Given the description of an element on the screen output the (x, y) to click on. 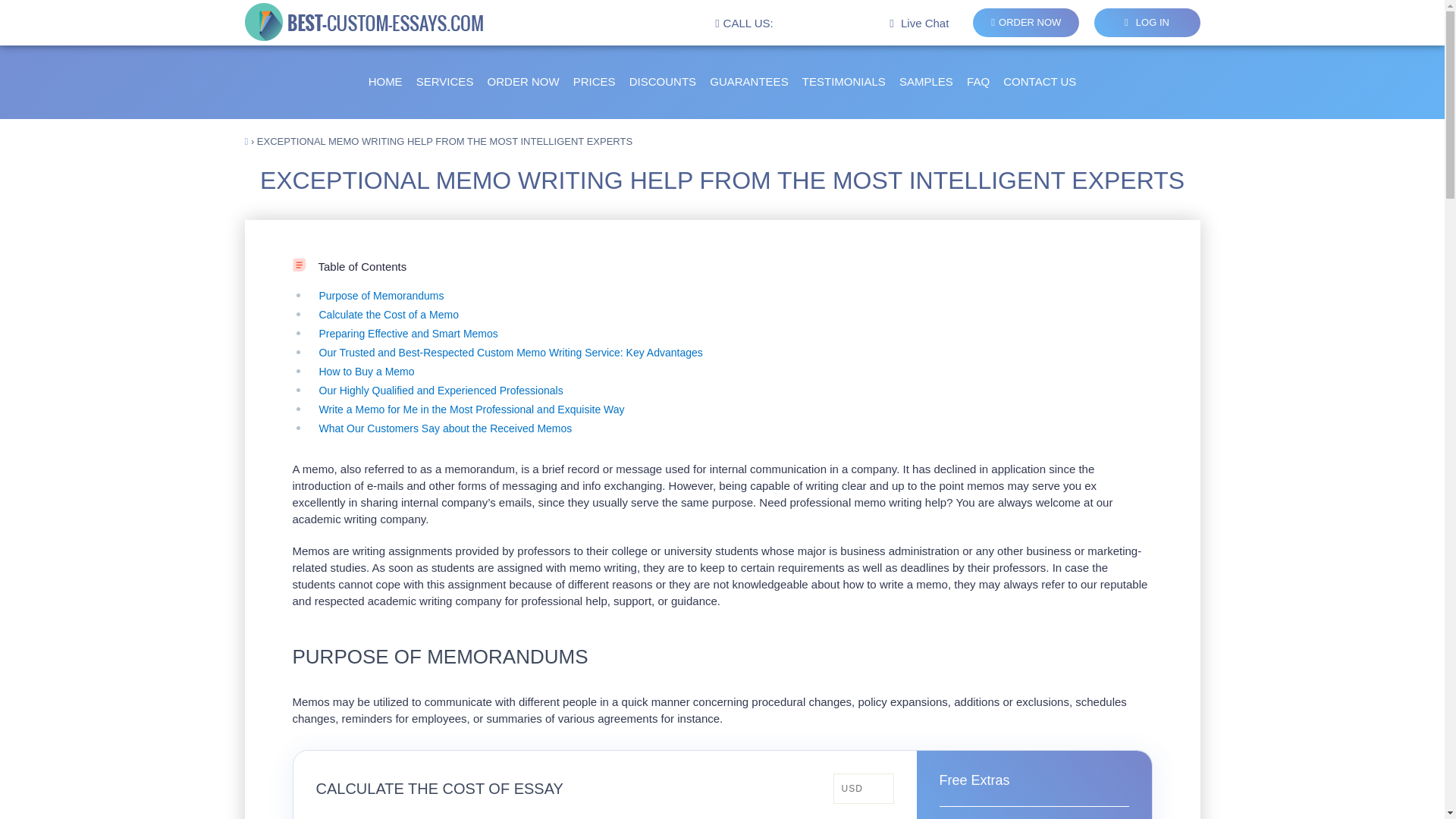
Our Highly Qualified and Experienced Professionals (440, 390)
ORDER NOW (523, 82)
SAMPLES (926, 82)
Calculate the Cost of a Memo (388, 314)
TESTIMONIALS (843, 82)
Purpose of Memorandums (381, 295)
How to Buy a Memo (365, 371)
GUARANTEES (748, 82)
PRICES (594, 82)
DISCOUNTS (661, 82)
HOME (385, 82)
ORDER NOW (1025, 22)
FAQ (978, 82)
CONTACT US (1039, 82)
